Given the description of an element on the screen output the (x, y) to click on. 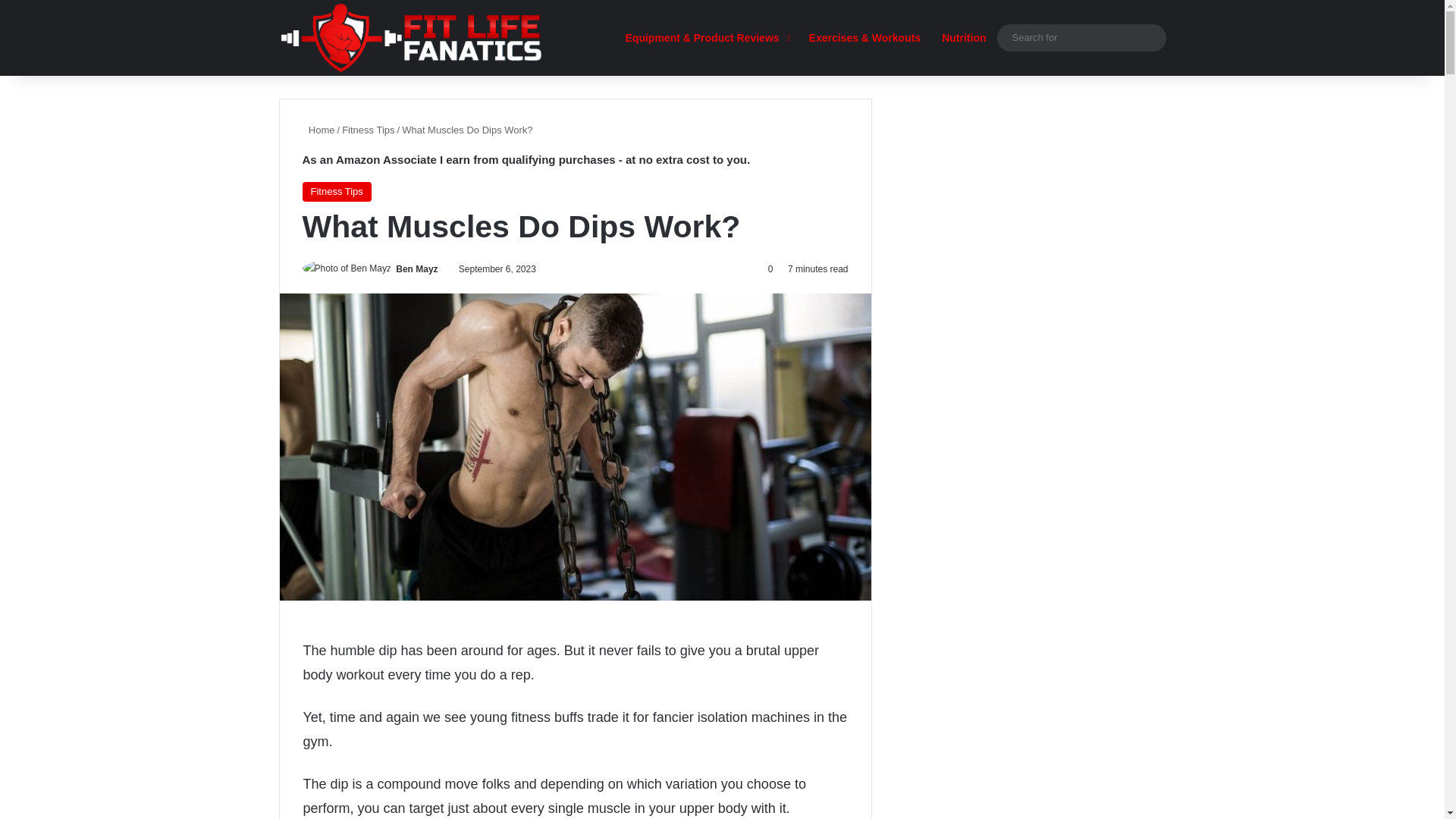
Search for (1150, 37)
Fitness Tips (336, 191)
Ben Mayz (417, 268)
FitLifeFanatics (411, 47)
Fitness Tips (368, 129)
Search for (1080, 36)
Home (317, 129)
Ben Mayz (417, 268)
